Given the description of an element on the screen output the (x, y) to click on. 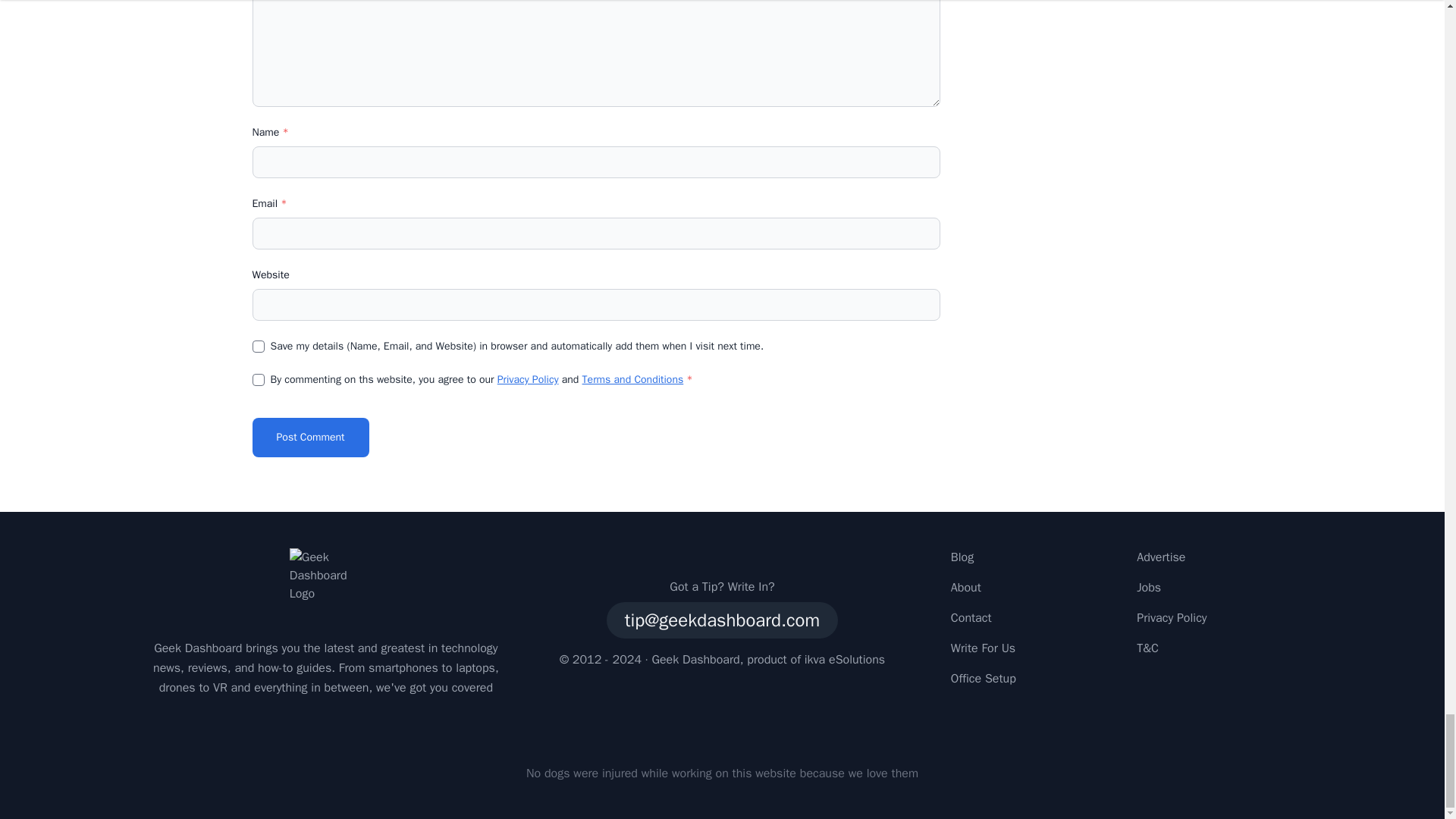
on (257, 379)
Post Comment (309, 437)
yes (257, 346)
